Given the description of an element on the screen output the (x, y) to click on. 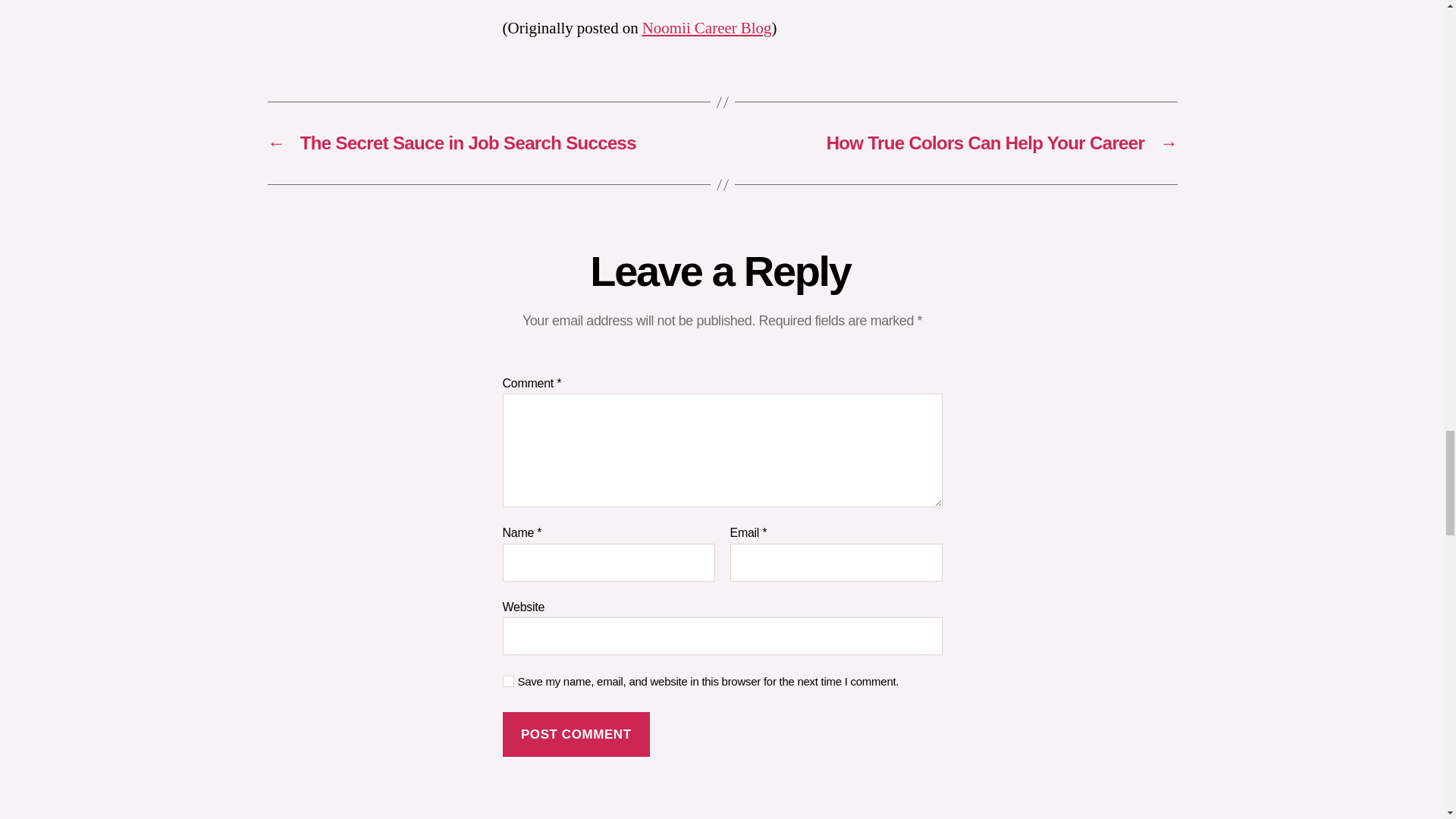
Noomii Career Blog (706, 28)
Post Comment (575, 733)
Post Comment (575, 733)
yes (507, 681)
